Given the description of an element on the screen output the (x, y) to click on. 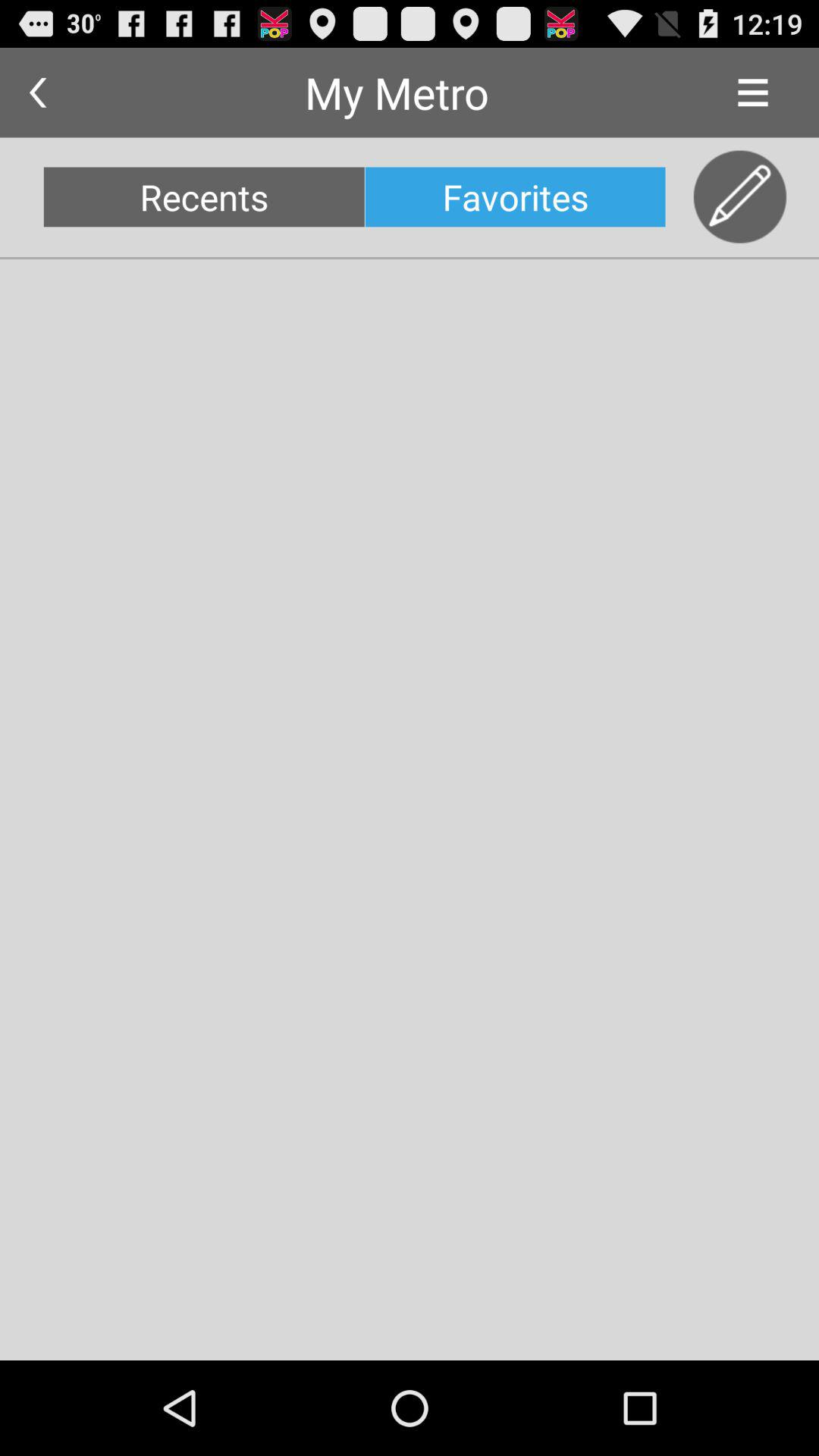
launch icon next to the my metro item (752, 92)
